Given the description of an element on the screen output the (x, y) to click on. 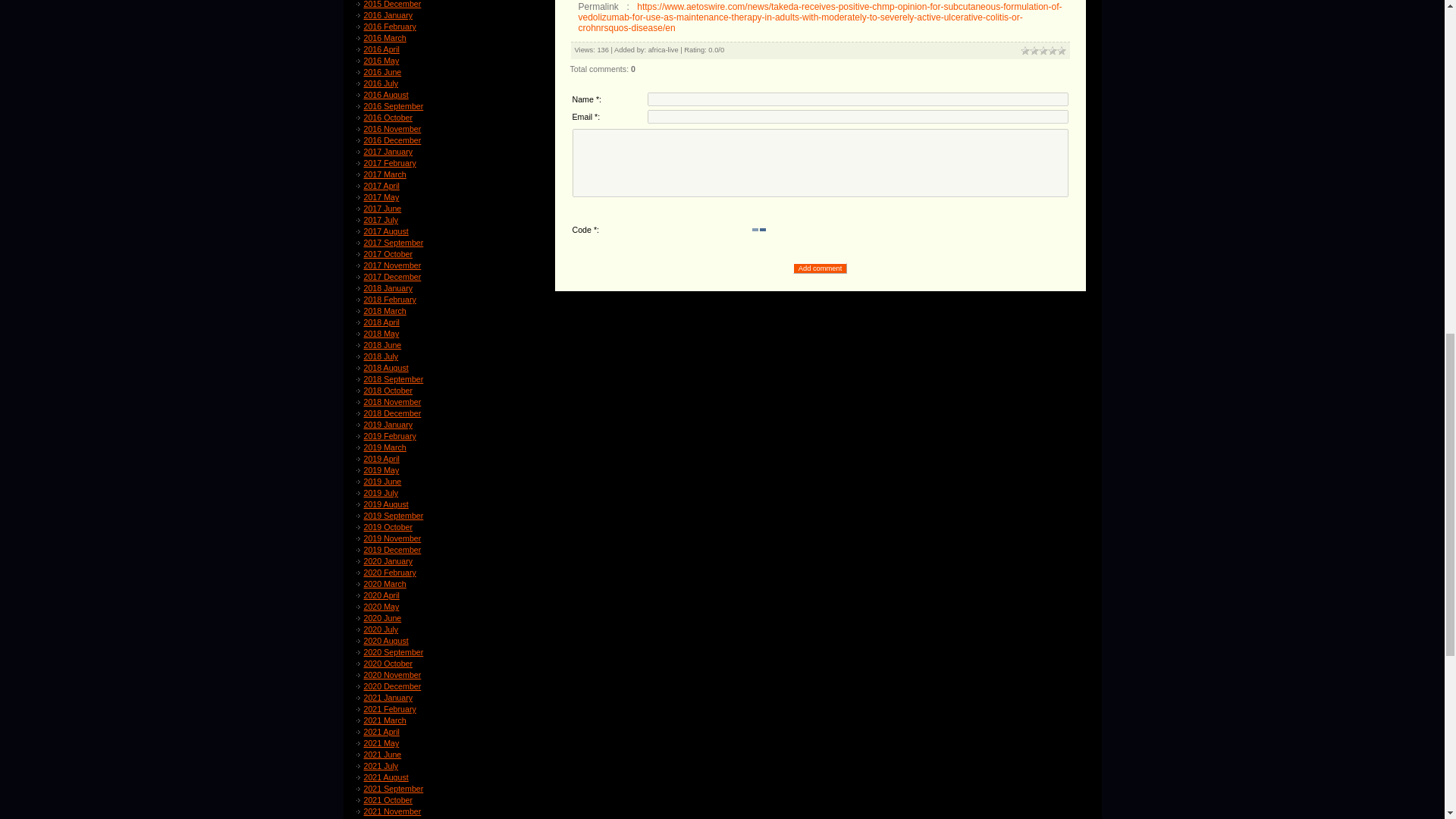
Add comment (820, 267)
